Given the description of an element on the screen output the (x, y) to click on. 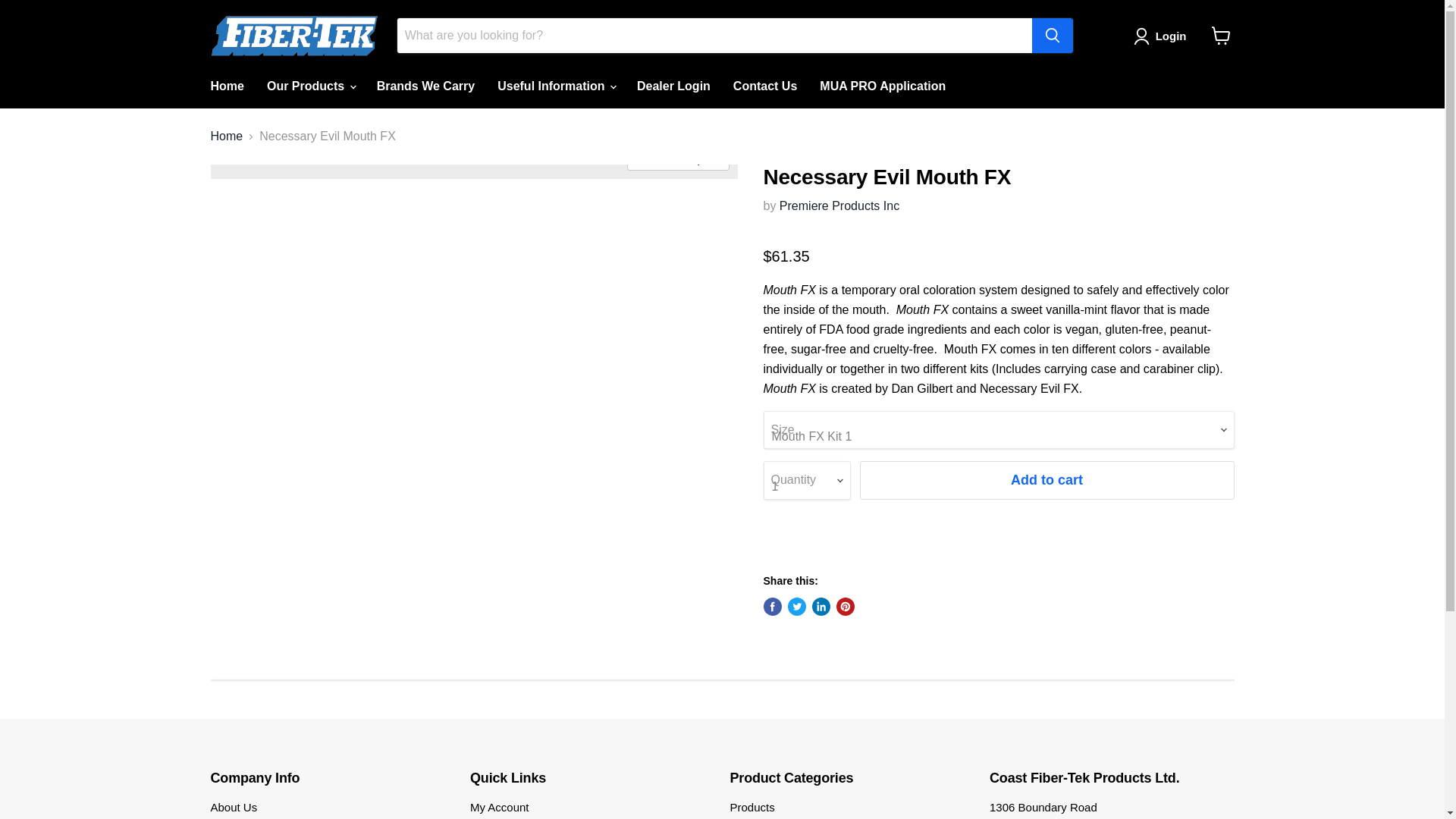
MUA PRO Application (882, 86)
Contact Us (765, 86)
Premiere Products Inc (838, 205)
Home (226, 86)
Dealer Login (674, 86)
Brands We Carry (425, 86)
Login (1171, 36)
View cart (1221, 35)
